Given the description of an element on the screen output the (x, y) to click on. 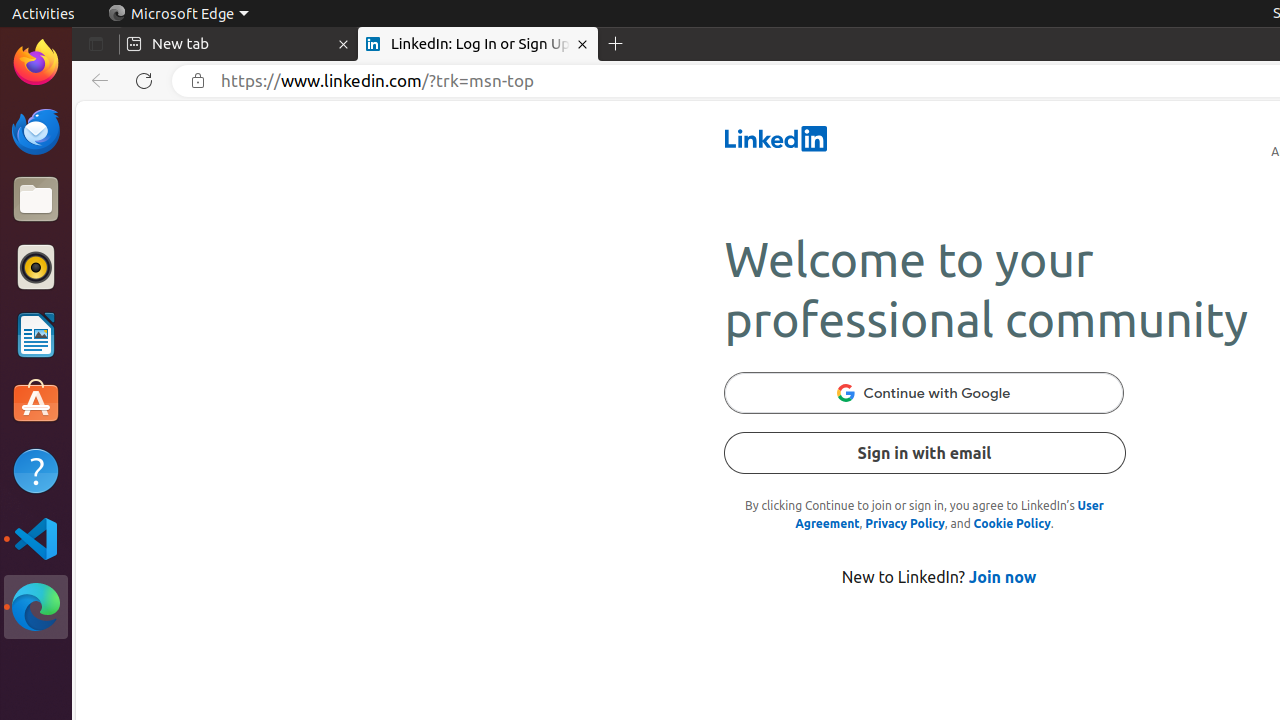
Continue with Google Element type: push-button (923, 393)
Sign in with email Element type: link (924, 453)
LinkedIn: Log In or Sign Up Element type: page-tab (478, 44)
LinkedIn Element type: link (775, 139)
Privacy Policy Element type: link (905, 523)
